Given the description of an element on the screen output the (x, y) to click on. 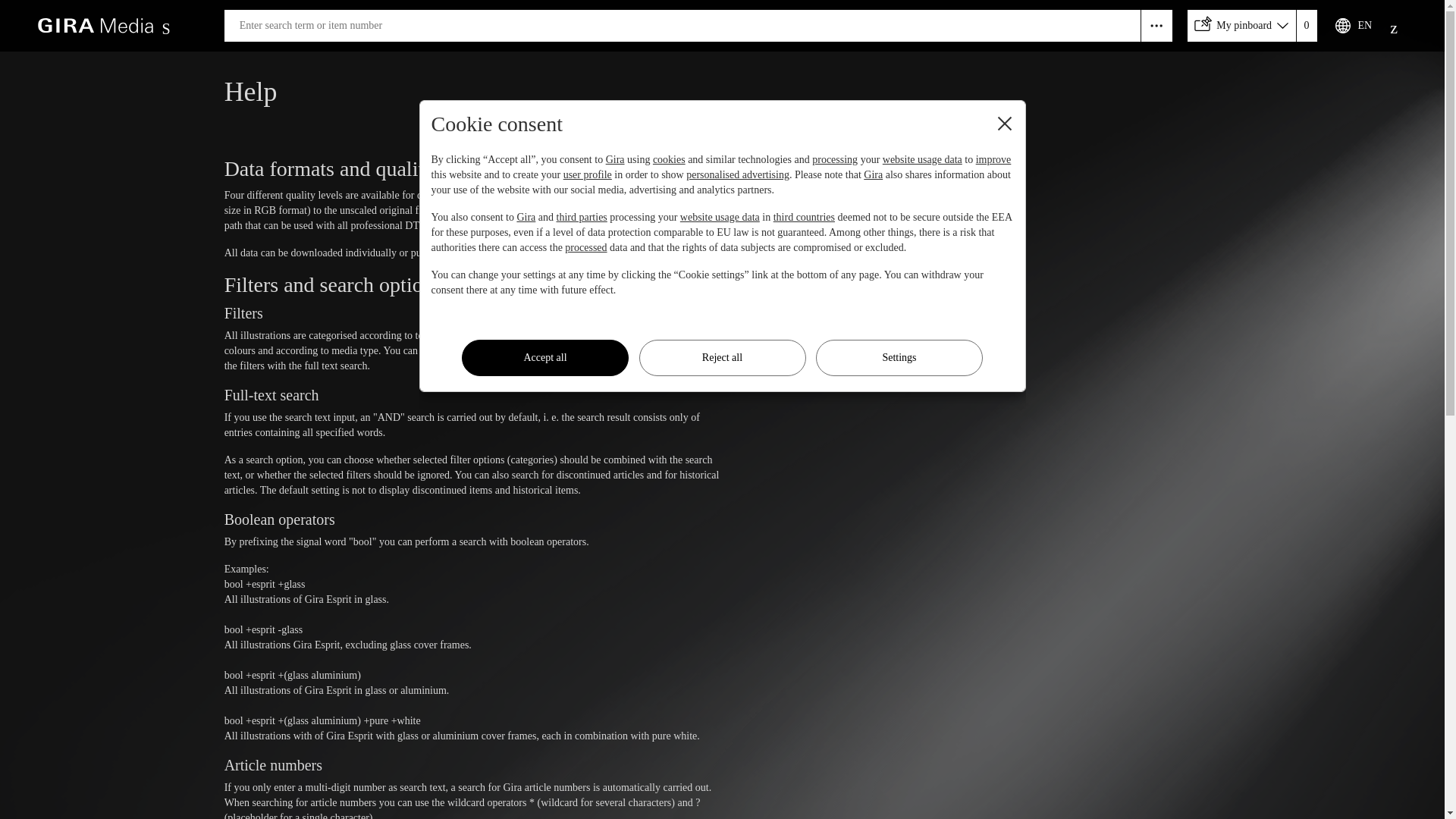
Settings (898, 357)
Reject all (722, 357)
Accept all (544, 357)
My pinboard (1251, 25)
EN (1349, 25)
